Given the description of an element on the screen output the (x, y) to click on. 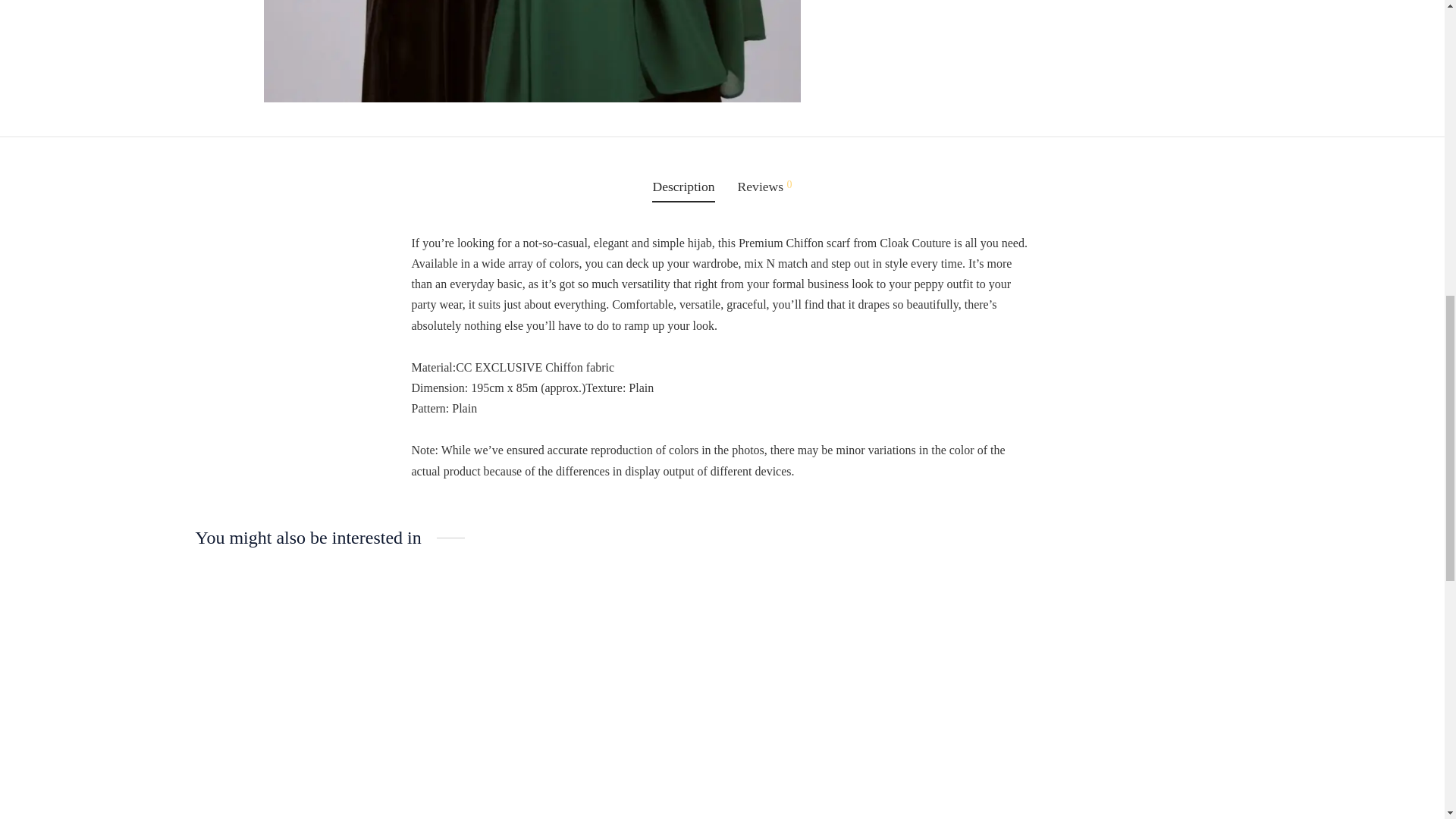
A06C1C80-4C08-4A5F-82DA-845681D3423A (531, 51)
13B8D74F-8BD9-484C-8A2D-D7456E7025E6 (1069, 51)
